Given the description of an element on the screen output the (x, y) to click on. 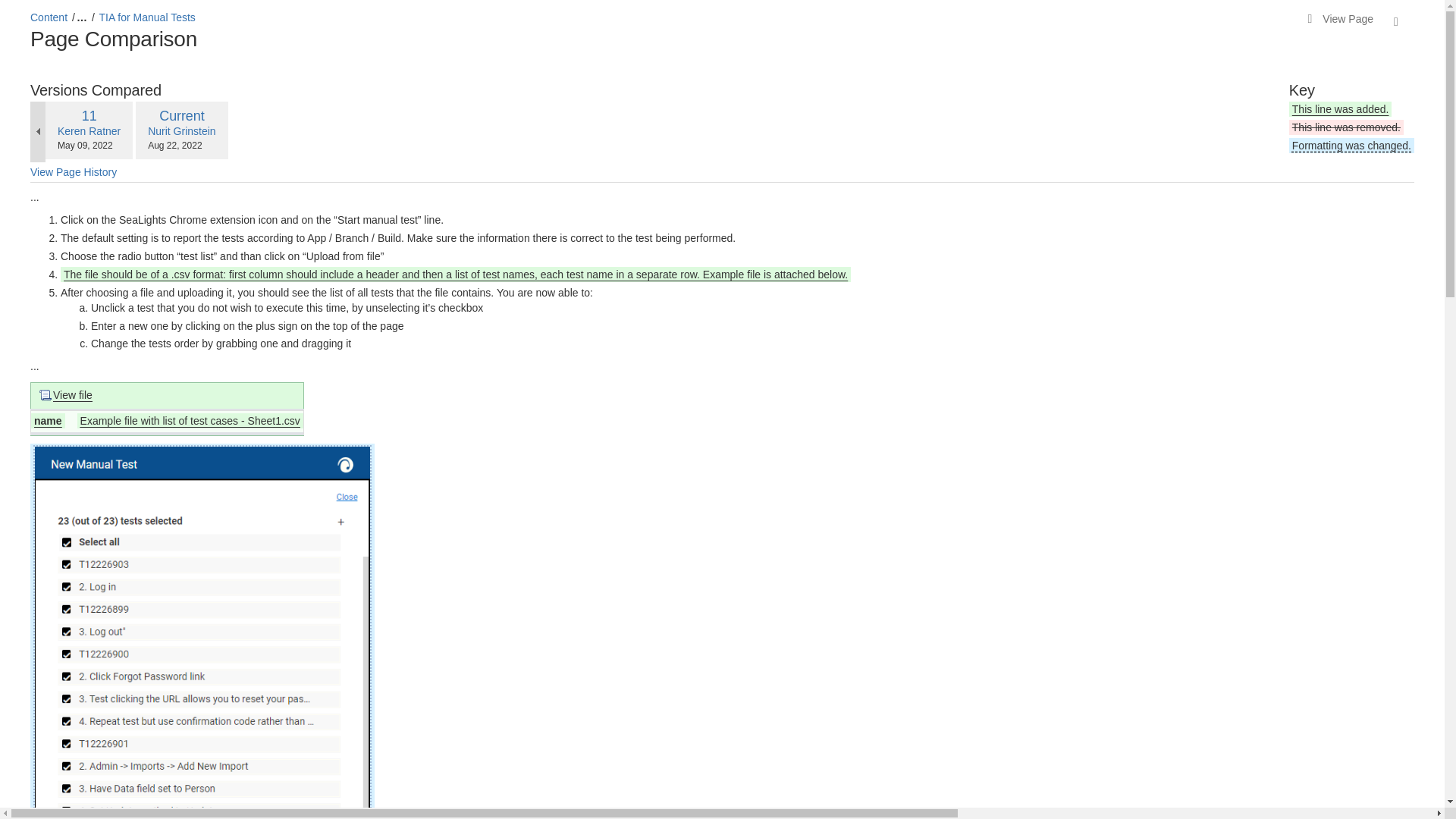
View Page (1339, 19)
View Page History (89, 116)
TIA for Manual Tests (73, 172)
Content (147, 17)
Nurit Grinstein (48, 17)
Show all breadcrumbs (181, 131)
Keren Ratner (181, 116)
